Given the description of an element on the screen output the (x, y) to click on. 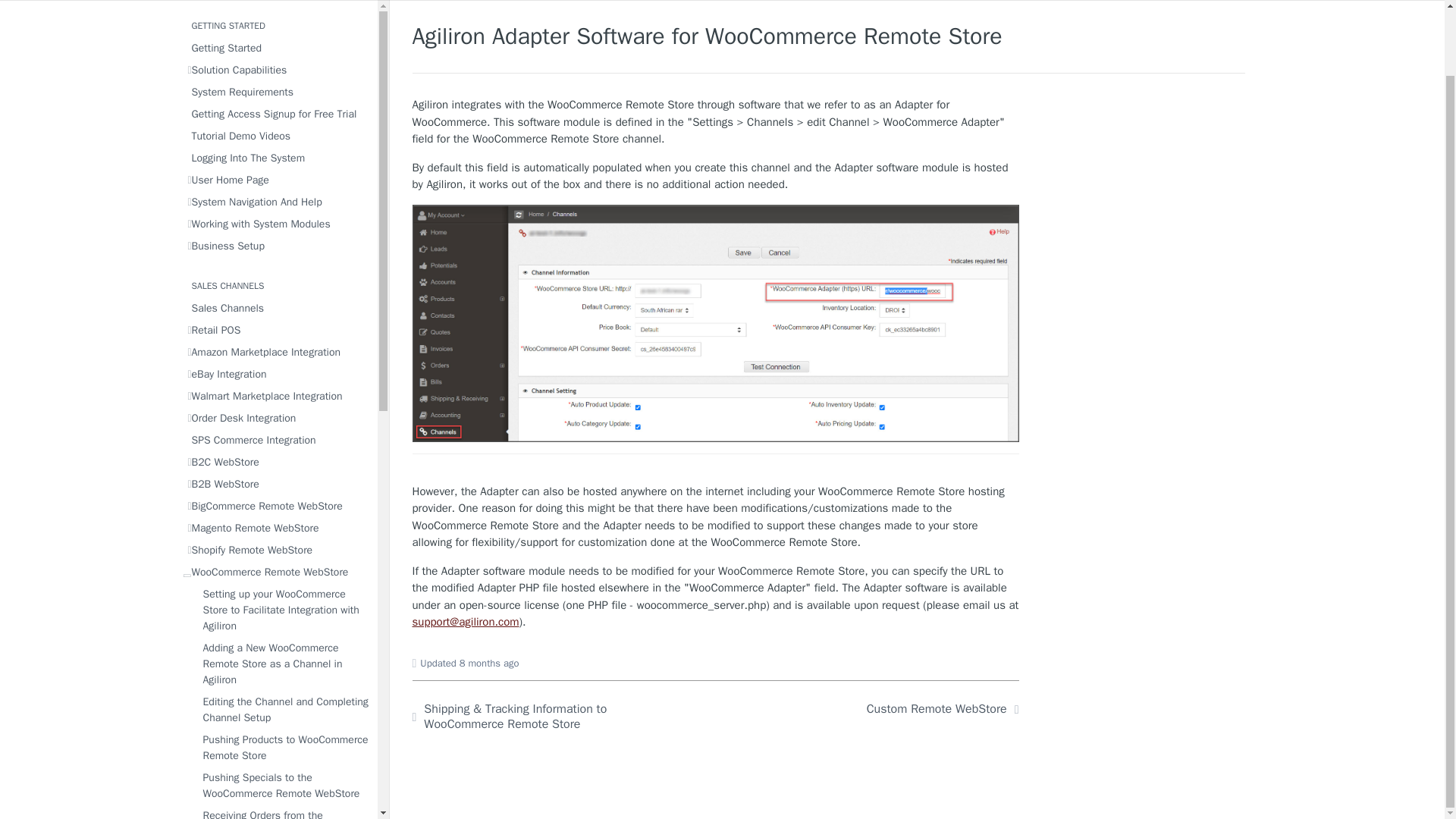
Getting Started (277, 47)
Getting Access Signup for Free Trial (277, 114)
Solution Capabilities (277, 69)
User Home Page (277, 179)
Logging Into The System (277, 158)
System Requirements (277, 91)
Tutorial Demo Videos (277, 136)
